Given the description of an element on the screen output the (x, y) to click on. 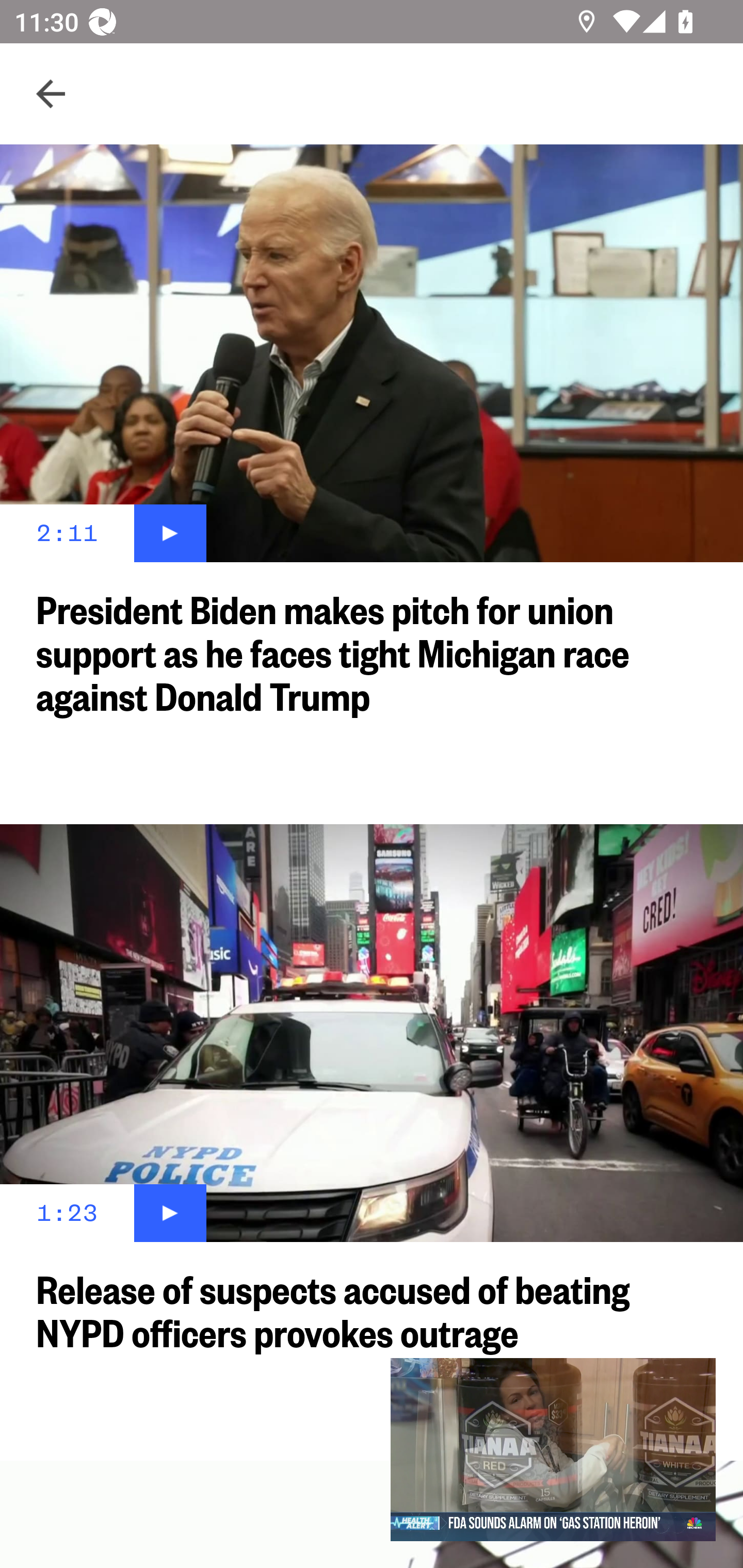
Navigate up (50, 93)
